Given the description of an element on the screen output the (x, y) to click on. 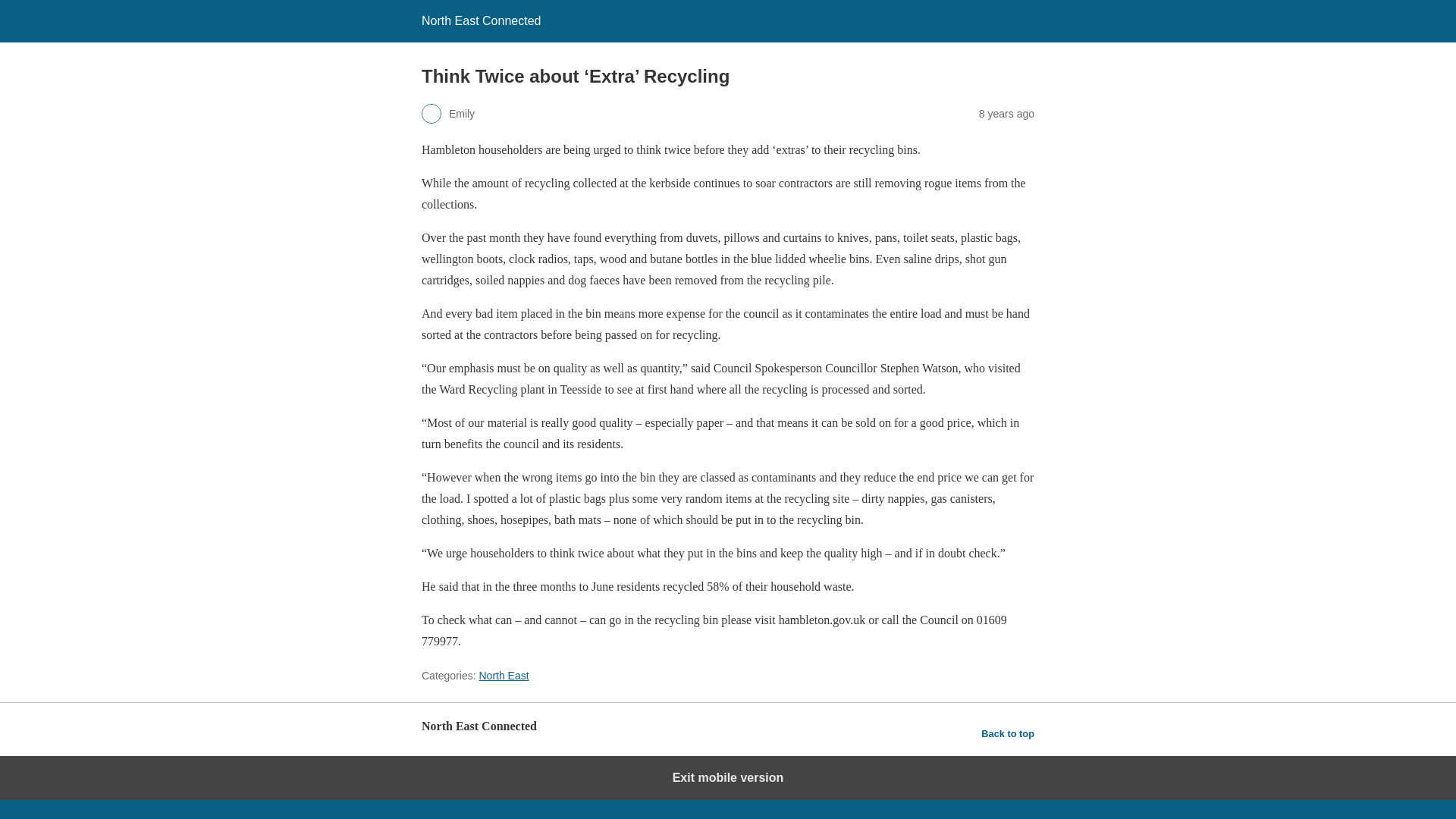
Back to top (1007, 733)
North East (503, 675)
North East Connected (481, 20)
